Given the description of an element on the screen output the (x, y) to click on. 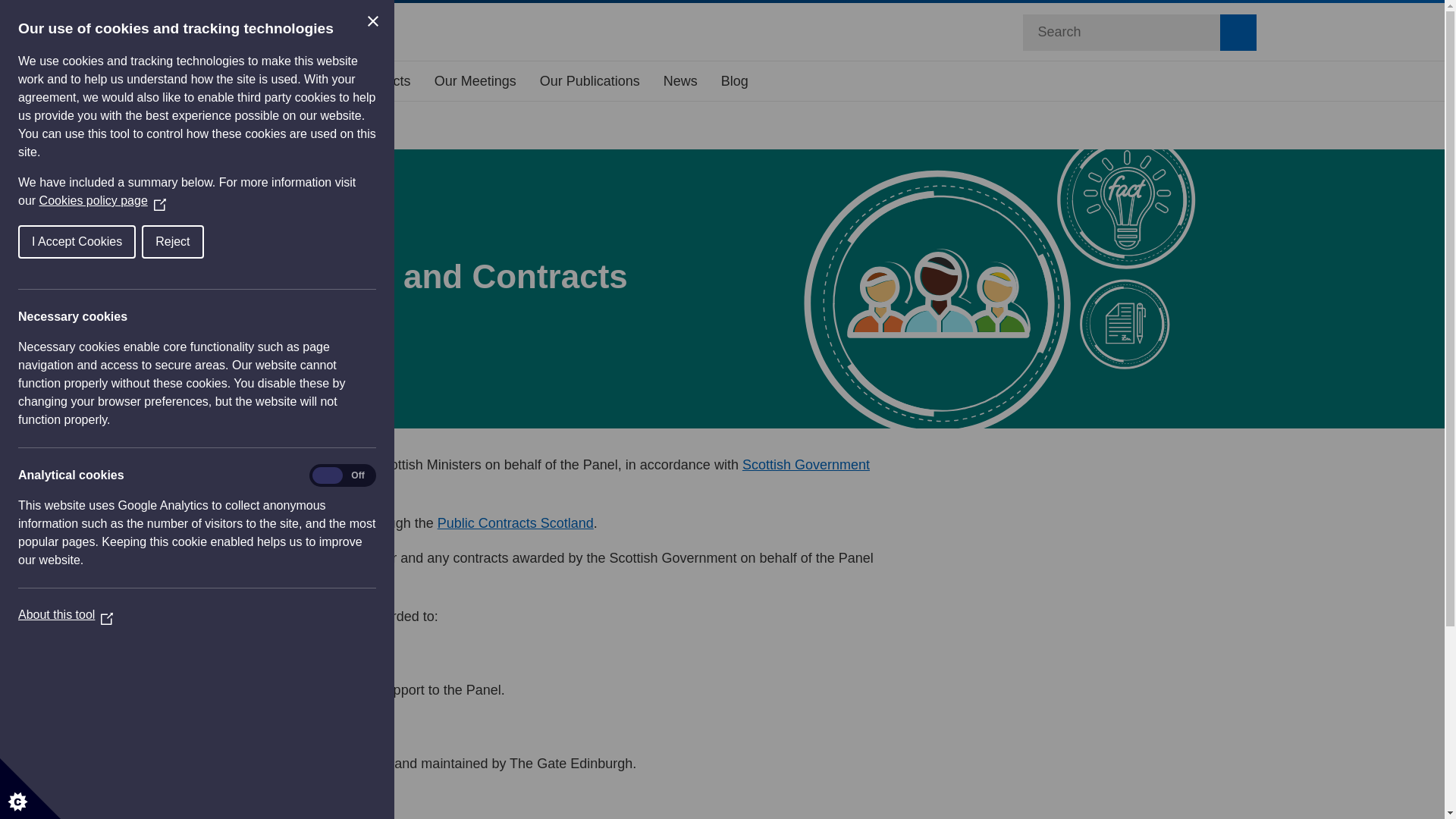
Our Meetings (475, 80)
Home (210, 80)
Our Publications (589, 80)
About Us (289, 80)
Reject (56, 241)
News (680, 80)
Search (1237, 31)
Key Facts (380, 80)
Home (201, 128)
Skip to main content (12, 12)
